Given the description of an element on the screen output the (x, y) to click on. 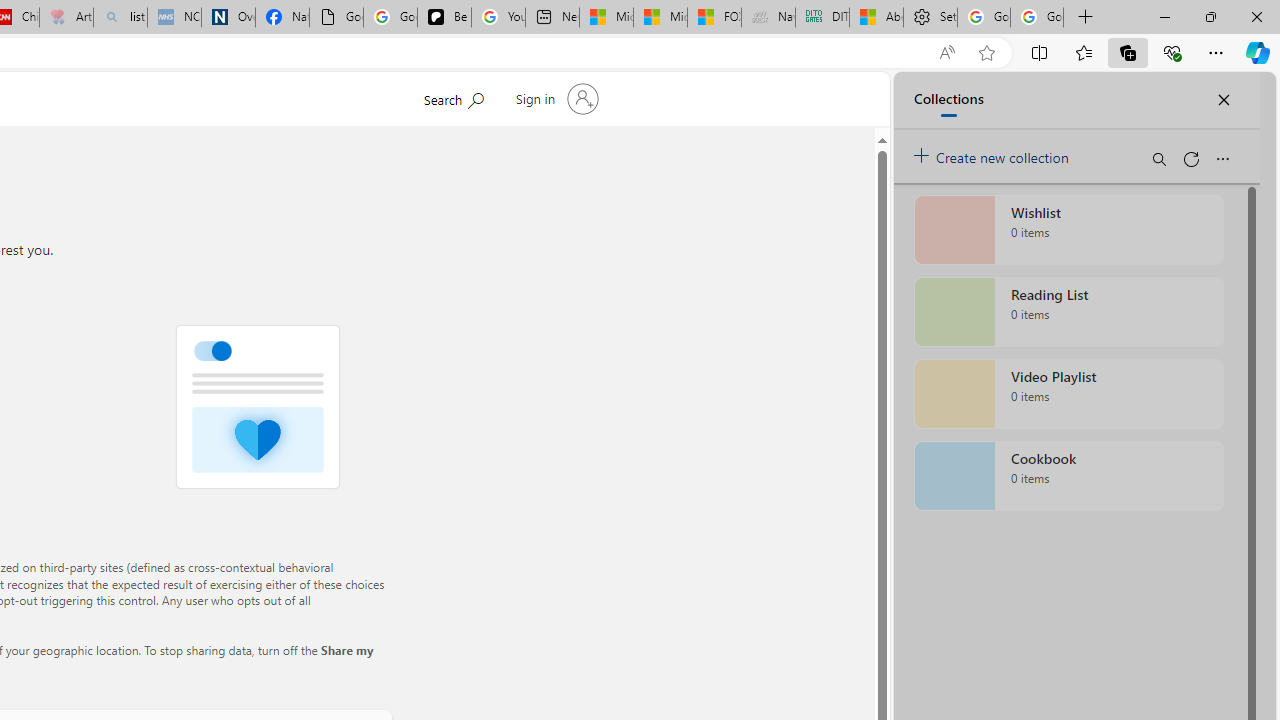
Be Smart | creating Science videos | Patreon (444, 17)
Sign in to your account (554, 98)
FOX News - MSN (714, 17)
Arthritis: Ask Health Professionals - Sleeping (66, 17)
